Given the description of an element on the screen output the (x, y) to click on. 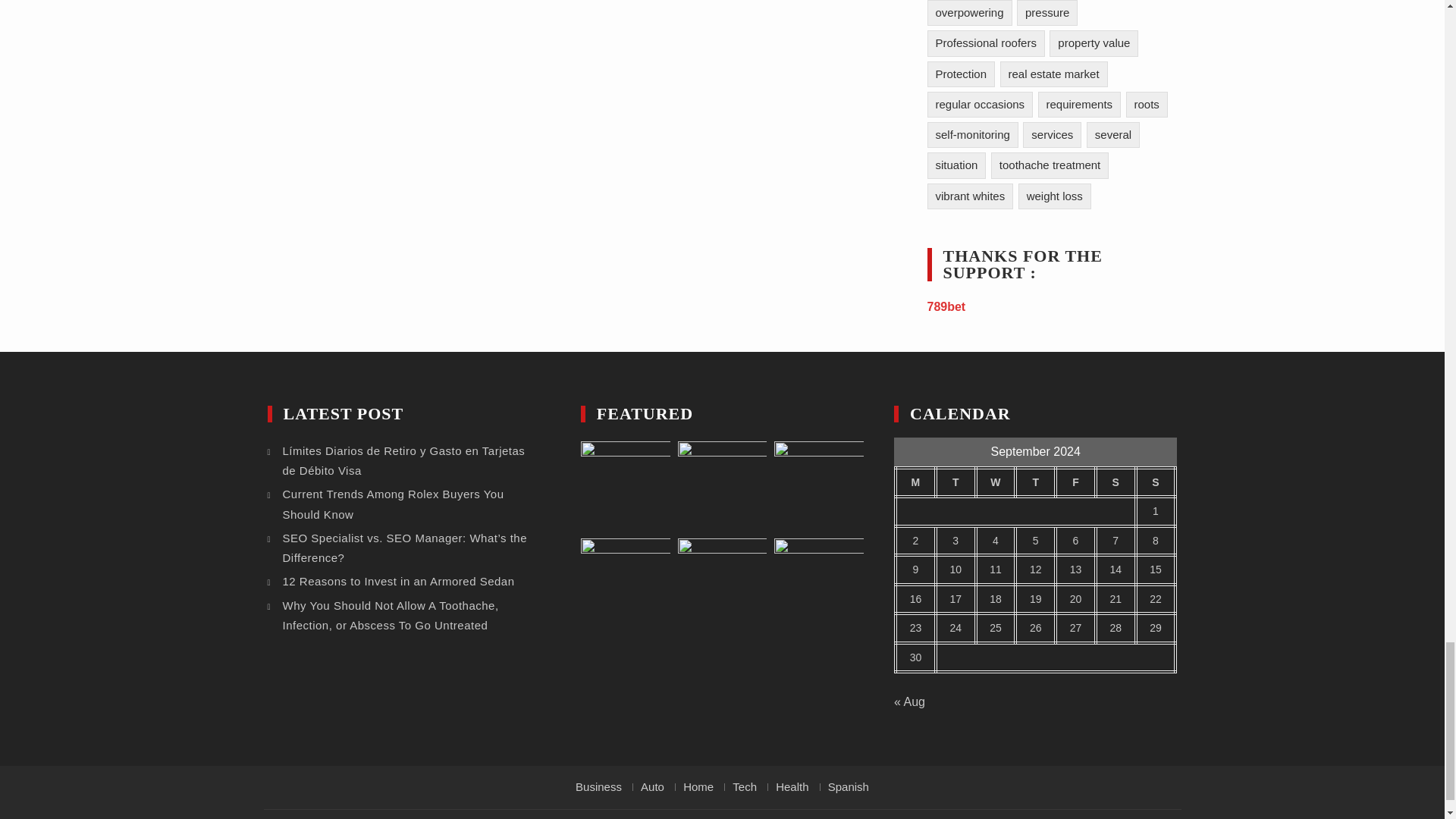
Sunday (1155, 482)
Monday (915, 482)
Friday (1075, 482)
Wednesday (995, 482)
Tuesday (955, 482)
Thursday (1034, 482)
Saturday (1115, 482)
